Given the description of an element on the screen output the (x, y) to click on. 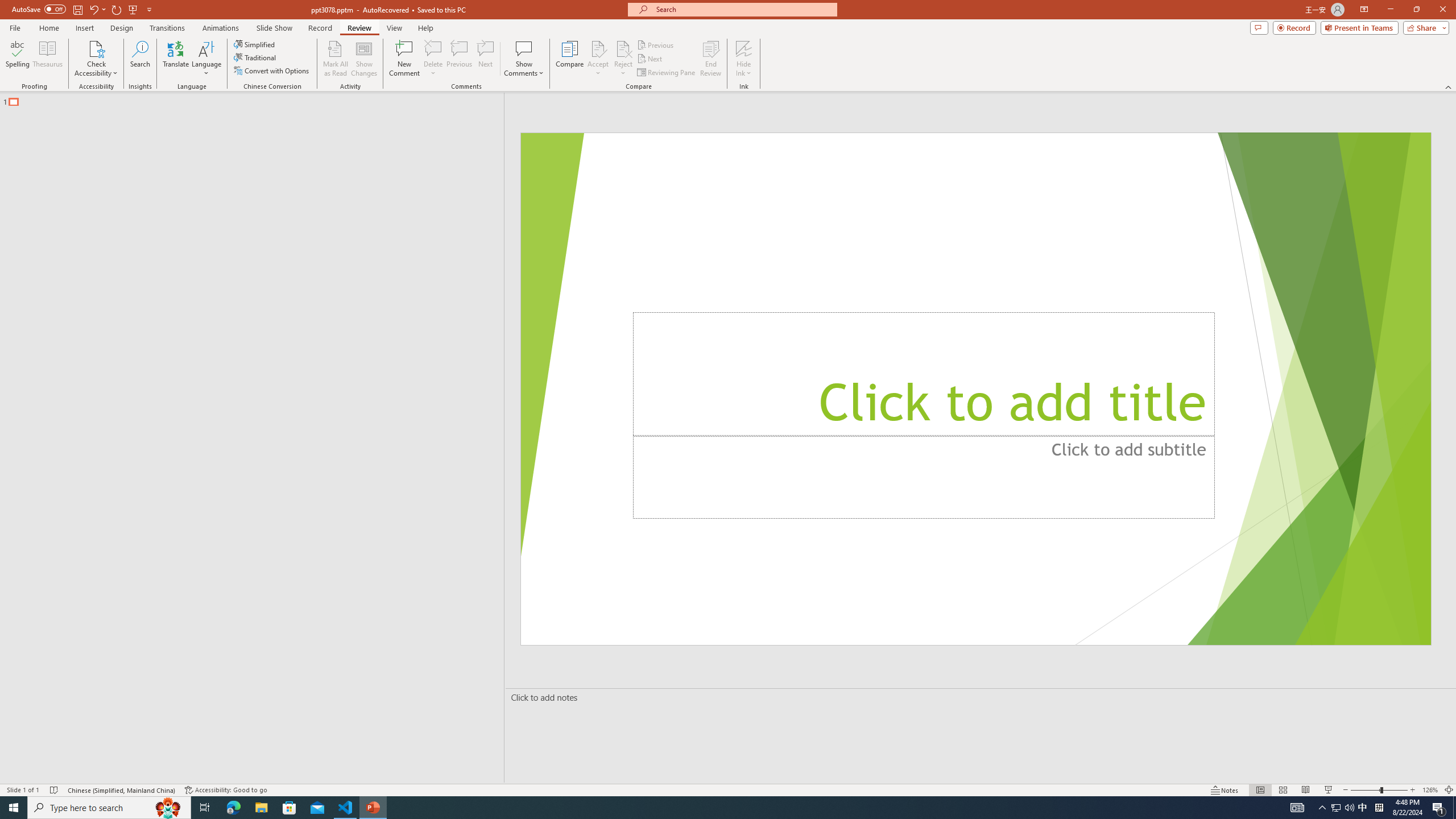
Hide Ink (743, 48)
Next (649, 58)
Reject Change (622, 48)
Simplified (254, 44)
Delete (432, 58)
Reject (622, 58)
